Given the description of an element on the screen output the (x, y) to click on. 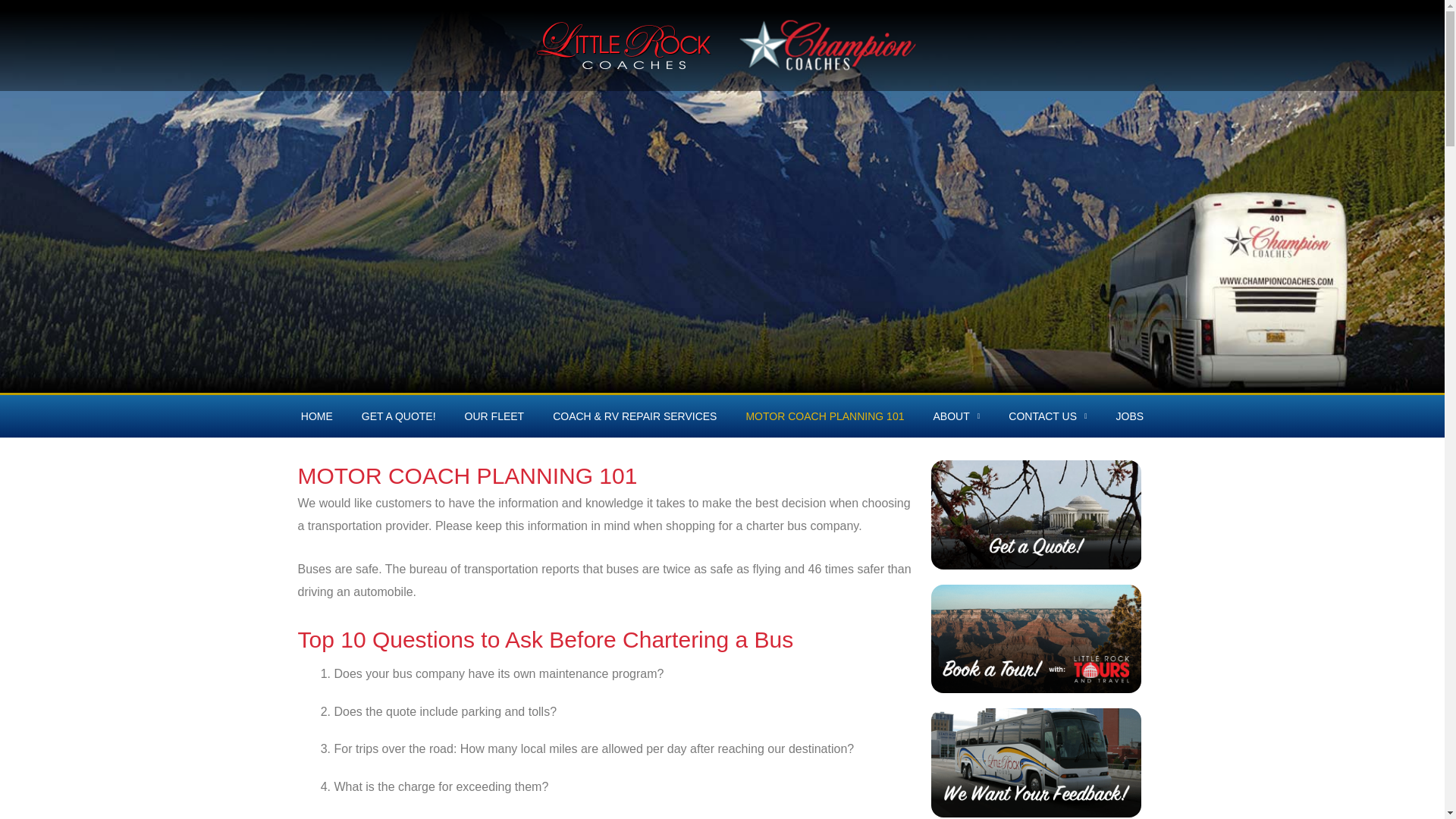
OUR FLEET (493, 415)
GET A QUOTE! (398, 415)
ABOUT (956, 415)
CONTACT US (1047, 415)
MOTOR COACH PLANNING 101 (824, 415)
HOME (316, 415)
JOBS (1130, 415)
